Given the description of an element on the screen output the (x, y) to click on. 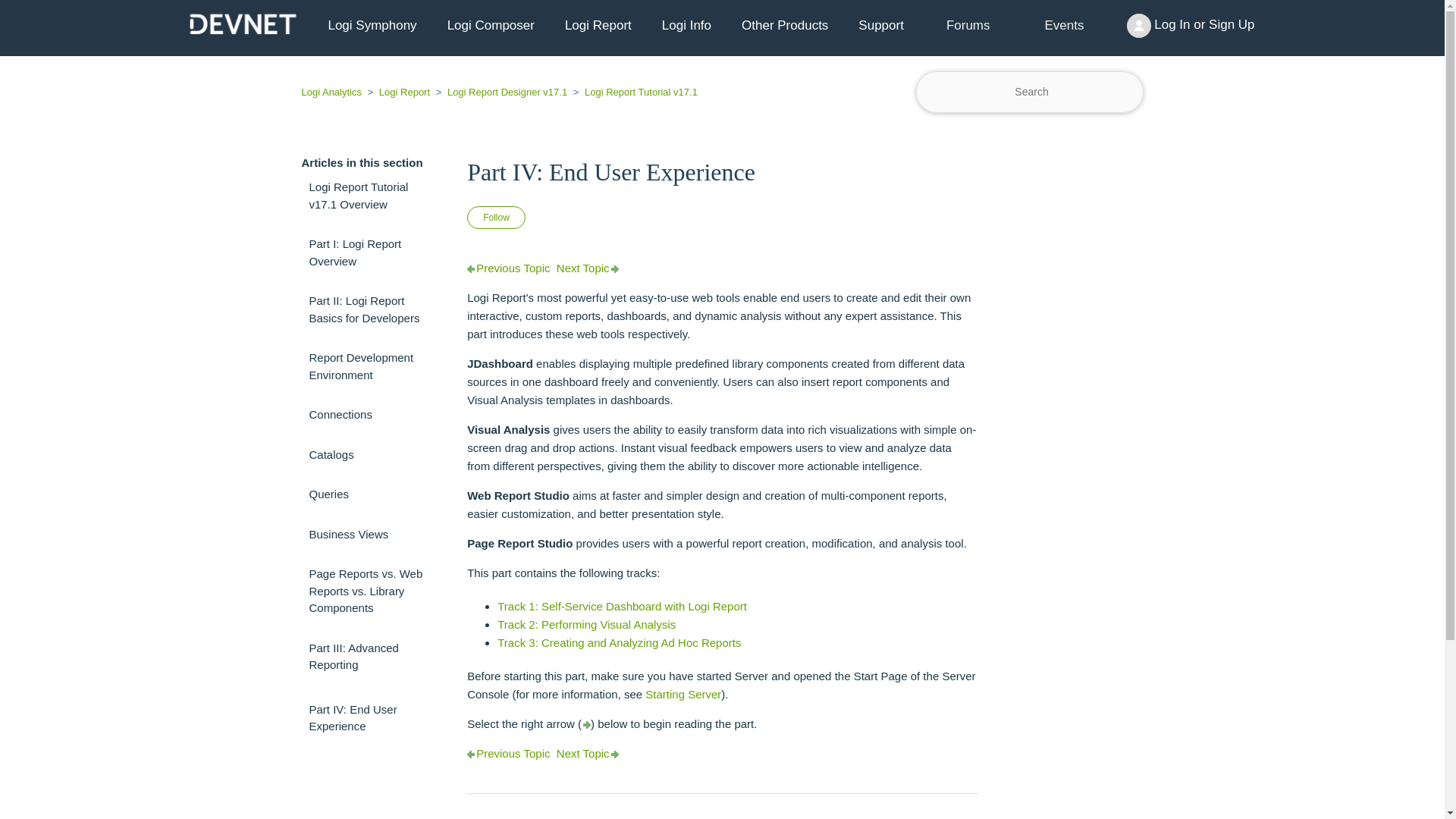
Forums (968, 24)
Forums (967, 25)
Logi Report (598, 25)
Log In or Sign Up (1190, 25)
Part IV: End User Experience (721, 171)
Logi Composer (491, 25)
Events (1064, 25)
Logi Info (686, 25)
Logi Report Tutorial v17.1 (633, 91)
Support (880, 25)
